Given the description of an element on the screen output the (x, y) to click on. 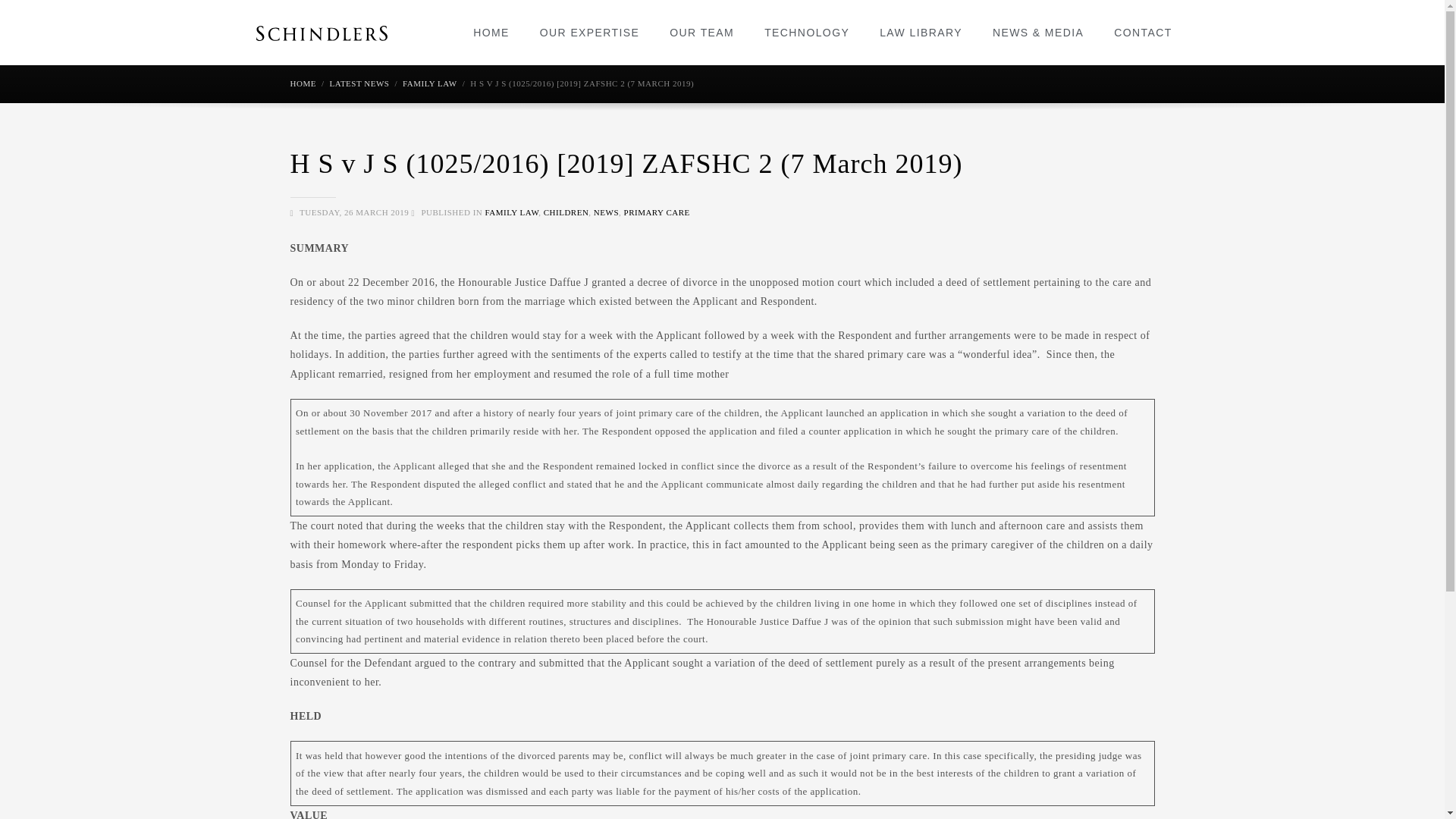
HOME (491, 32)
LAW LIBRARY (920, 32)
CONTACT (1142, 32)
TECHNOLOGY (806, 32)
OUR EXPERTISE (589, 32)
OUR TEAM (701, 32)
Latest News (358, 82)
